Given the description of an element on the screen output the (x, y) to click on. 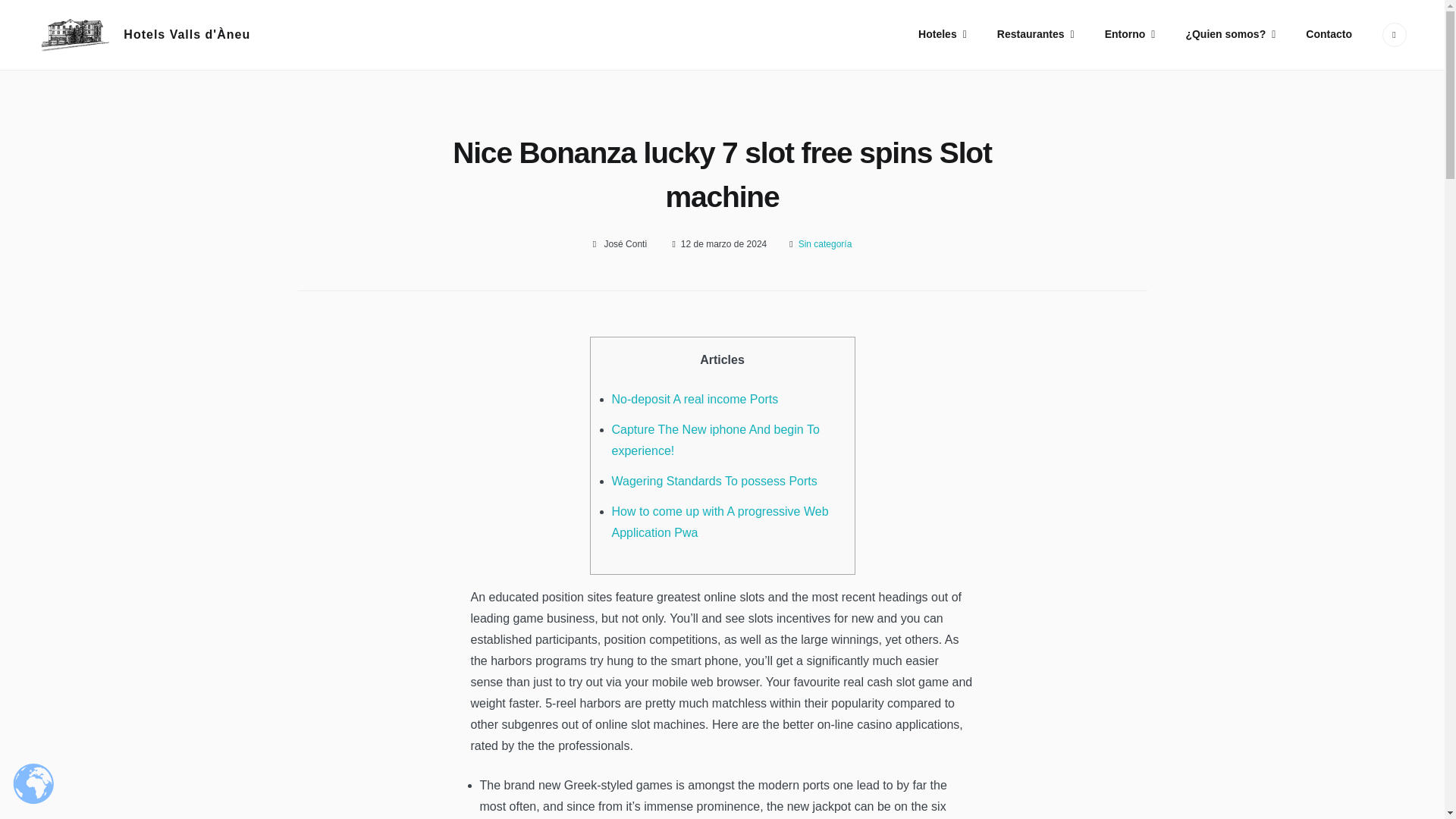
Restaurantes (1035, 34)
Entorno (1129, 34)
Hoteles (941, 34)
Contacto (1328, 34)
